Given the description of an element on the screen output the (x, y) to click on. 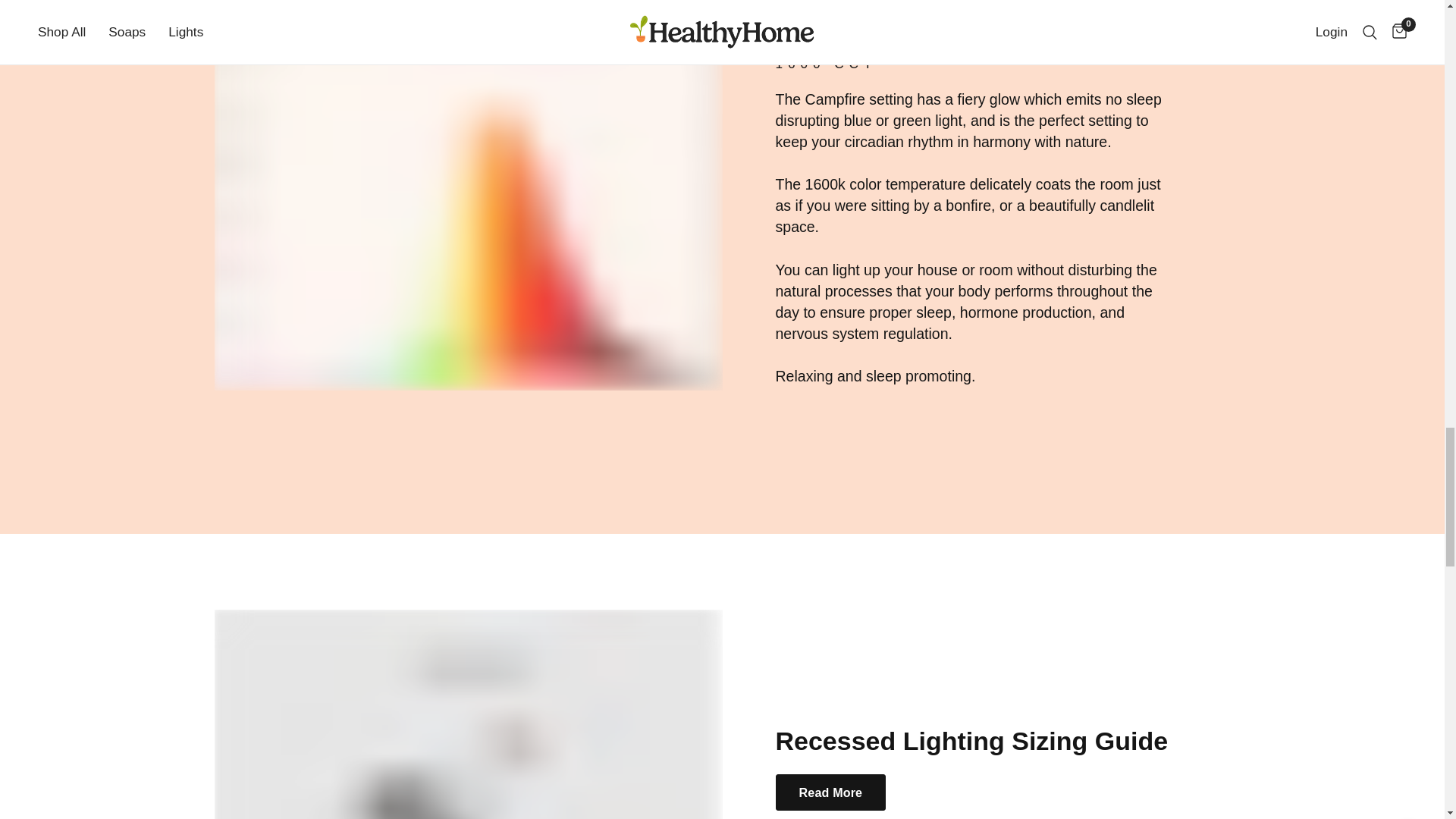
Read More (829, 791)
Read More (829, 791)
